Given the description of an element on the screen output the (x, y) to click on. 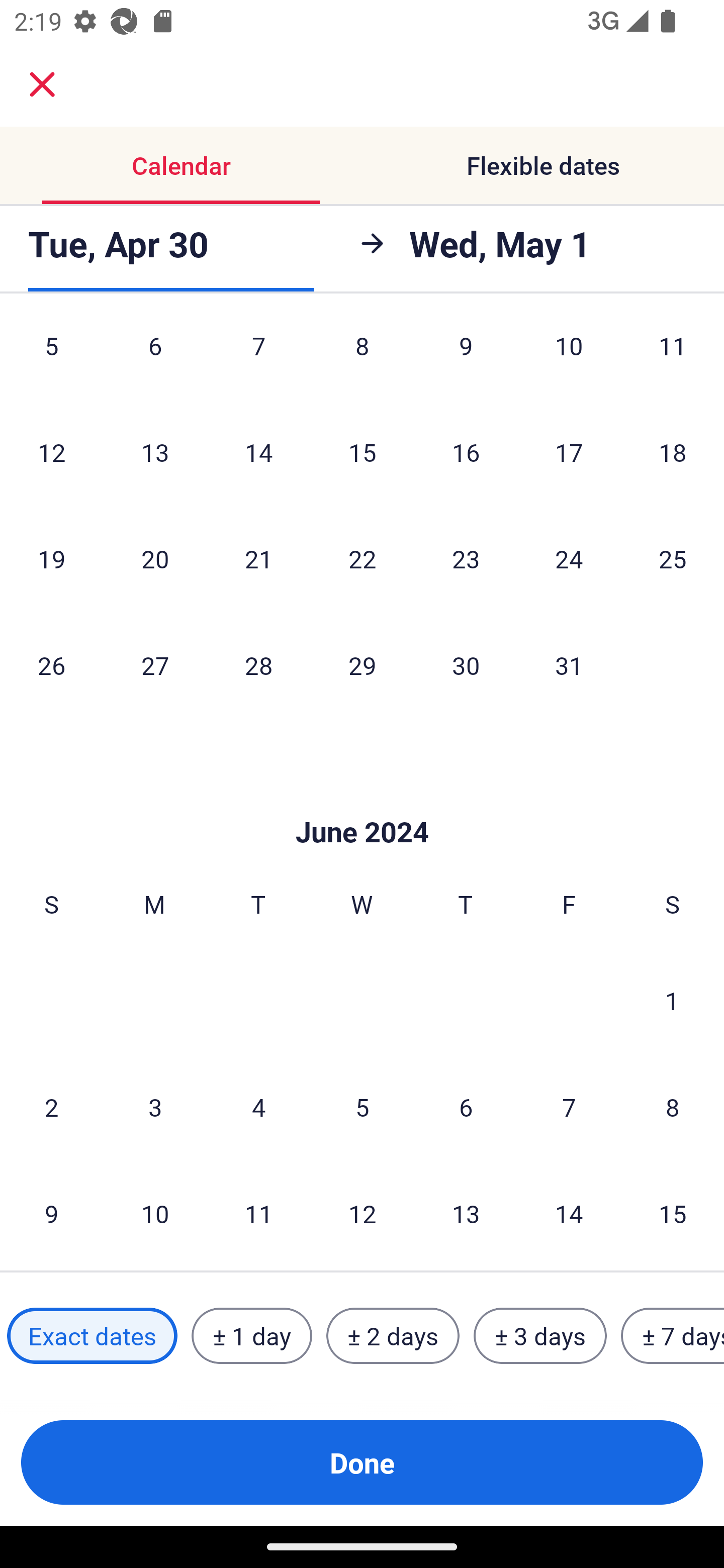
close. (42, 84)
Flexible dates (542, 164)
5 Sunday, May 5, 2024 (51, 358)
6 Monday, May 6, 2024 (155, 358)
7 Tuesday, May 7, 2024 (258, 358)
8 Wednesday, May 8, 2024 (362, 358)
9 Thursday, May 9, 2024 (465, 358)
10 Friday, May 10, 2024 (569, 358)
11 Saturday, May 11, 2024 (672, 358)
12 Sunday, May 12, 2024 (51, 451)
13 Monday, May 13, 2024 (155, 451)
14 Tuesday, May 14, 2024 (258, 451)
15 Wednesday, May 15, 2024 (362, 451)
16 Thursday, May 16, 2024 (465, 451)
17 Friday, May 17, 2024 (569, 451)
18 Saturday, May 18, 2024 (672, 451)
19 Sunday, May 19, 2024 (51, 557)
20 Monday, May 20, 2024 (155, 557)
21 Tuesday, May 21, 2024 (258, 557)
22 Wednesday, May 22, 2024 (362, 557)
23 Thursday, May 23, 2024 (465, 557)
24 Friday, May 24, 2024 (569, 557)
25 Saturday, May 25, 2024 (672, 557)
26 Sunday, May 26, 2024 (51, 664)
27 Monday, May 27, 2024 (155, 664)
28 Tuesday, May 28, 2024 (258, 664)
29 Wednesday, May 29, 2024 (362, 664)
30 Thursday, May 30, 2024 (465, 664)
31 Friday, May 31, 2024 (569, 664)
Skip to Done (362, 801)
1 Saturday, June 1, 2024 (672, 1000)
2 Sunday, June 2, 2024 (51, 1106)
3 Monday, June 3, 2024 (155, 1106)
4 Tuesday, June 4, 2024 (258, 1106)
5 Wednesday, June 5, 2024 (362, 1106)
6 Thursday, June 6, 2024 (465, 1106)
7 Friday, June 7, 2024 (569, 1106)
8 Saturday, June 8, 2024 (672, 1106)
9 Sunday, June 9, 2024 (51, 1213)
10 Monday, June 10, 2024 (155, 1213)
11 Tuesday, June 11, 2024 (258, 1213)
12 Wednesday, June 12, 2024 (362, 1213)
13 Thursday, June 13, 2024 (465, 1213)
14 Friday, June 14, 2024 (569, 1213)
15 Saturday, June 15, 2024 (672, 1213)
Exact dates (92, 1335)
± 1 day (251, 1335)
± 2 days (392, 1335)
± 3 days (539, 1335)
± 7 days (672, 1335)
Done (361, 1462)
